Given the description of an element on the screen output the (x, y) to click on. 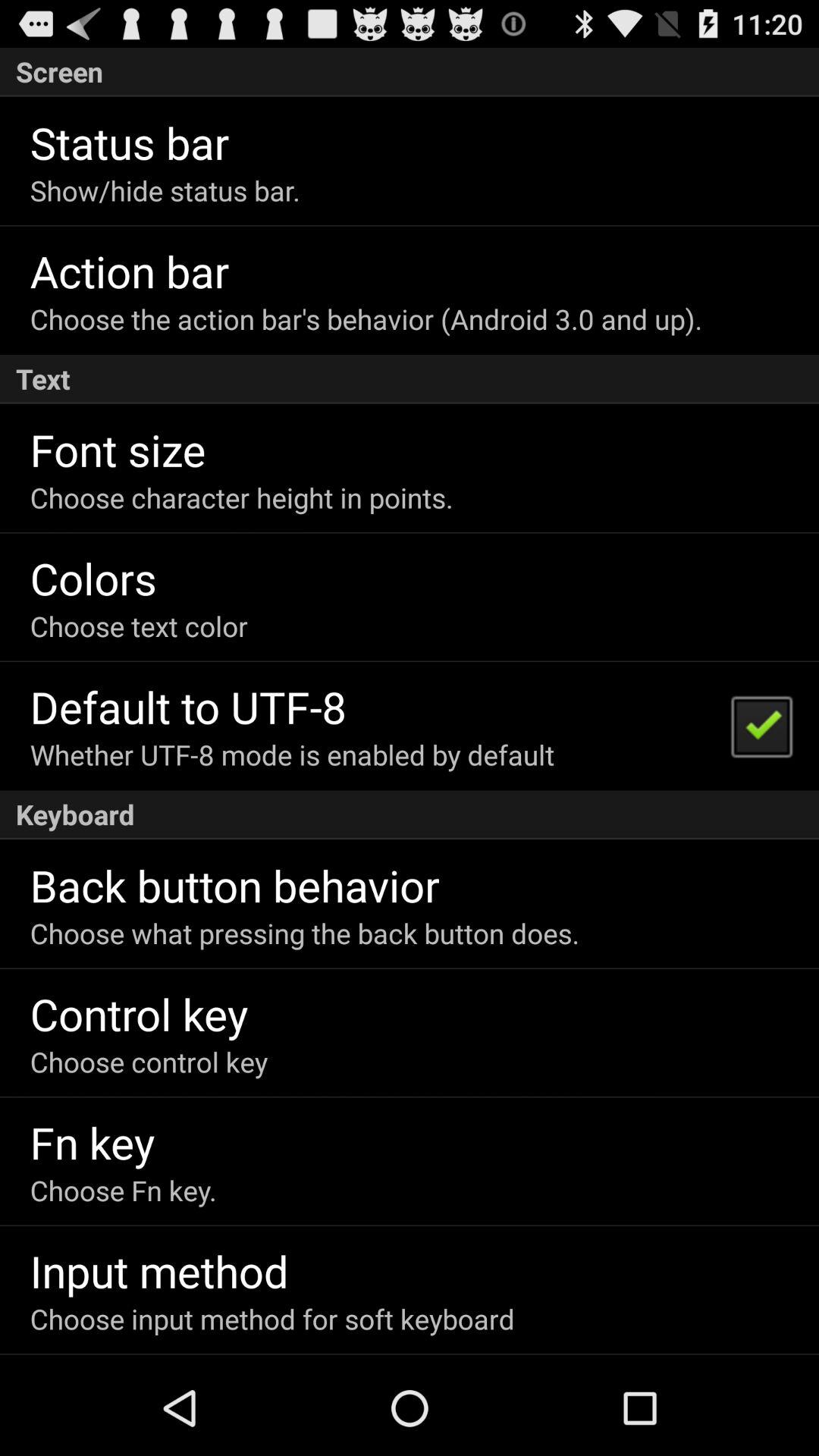
jump until the show hide status (165, 190)
